Given the description of an element on the screen output the (x, y) to click on. 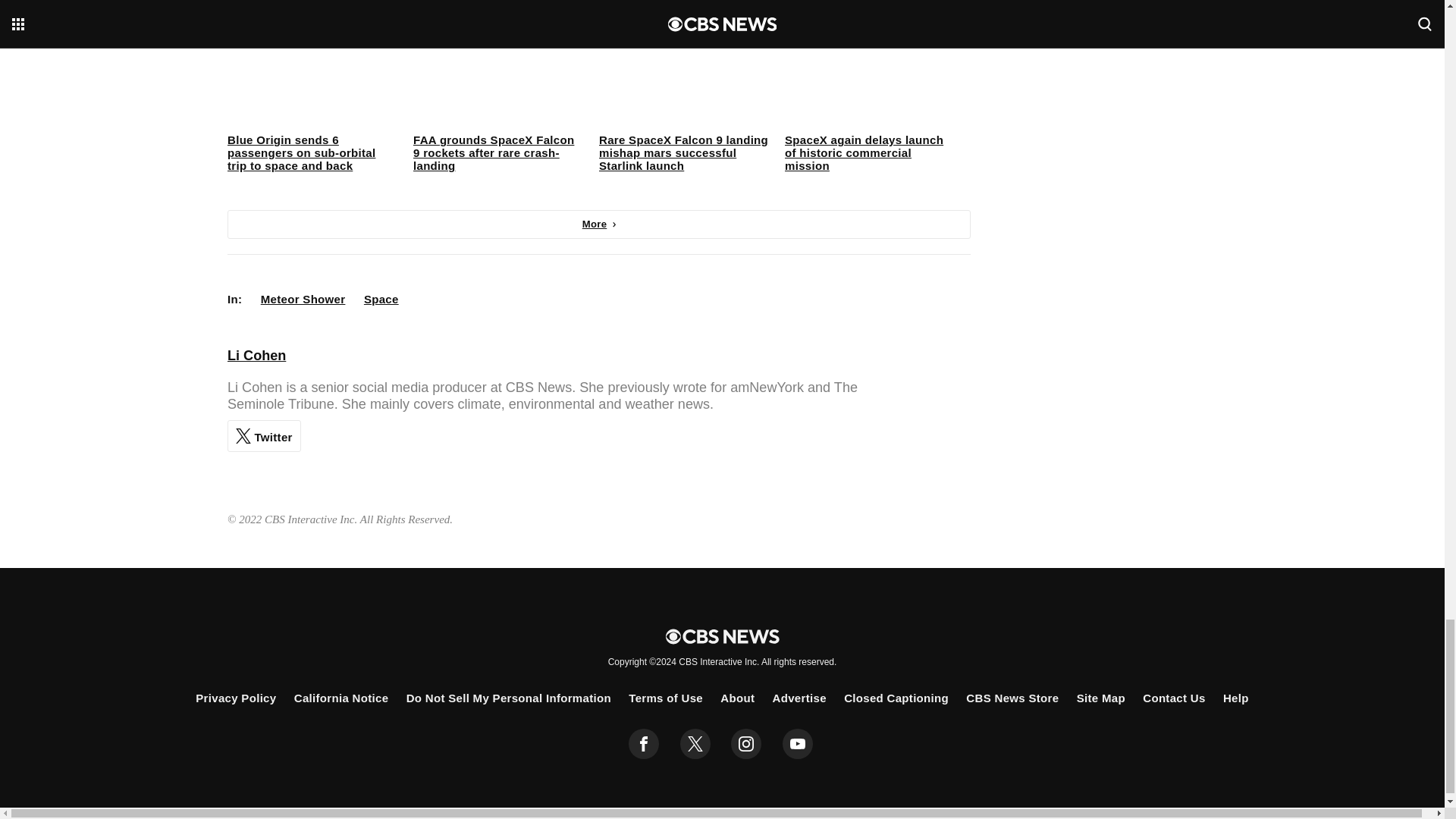
instagram (745, 743)
youtube (797, 743)
facebook (643, 743)
twitter (694, 743)
